Given the description of an element on the screen output the (x, y) to click on. 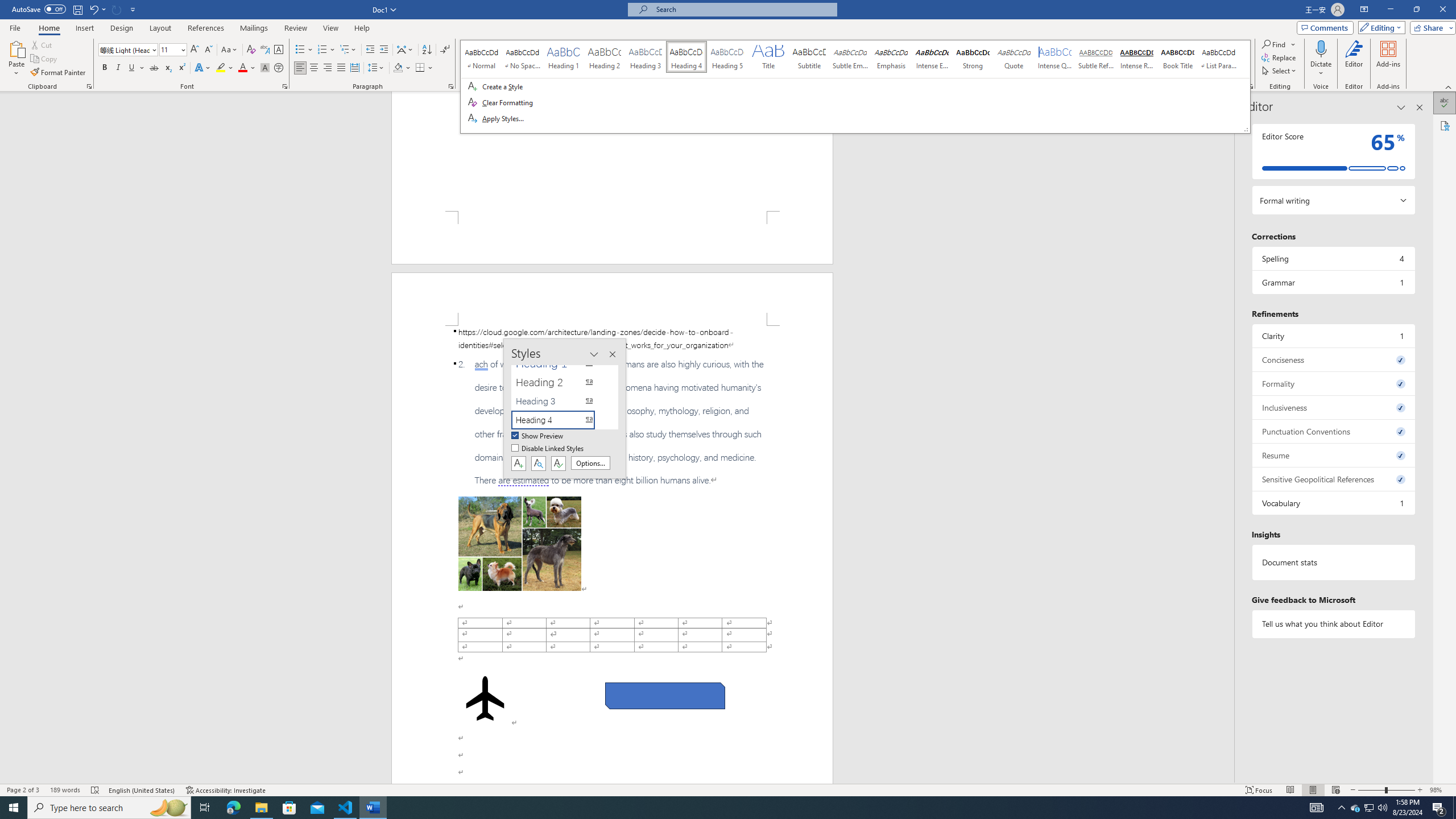
Footer -Section 1- (611, 237)
Font Color Automatic (241, 67)
File Explorer - 1 running window (261, 807)
Rectangle: Diagonal Corners Snipped 2 (665, 695)
Header -Section 1- (611, 298)
Page Number Page 2 of 3 (22, 790)
Disable Linked Styles (548, 448)
